Given the description of an element on the screen output the (x, y) to click on. 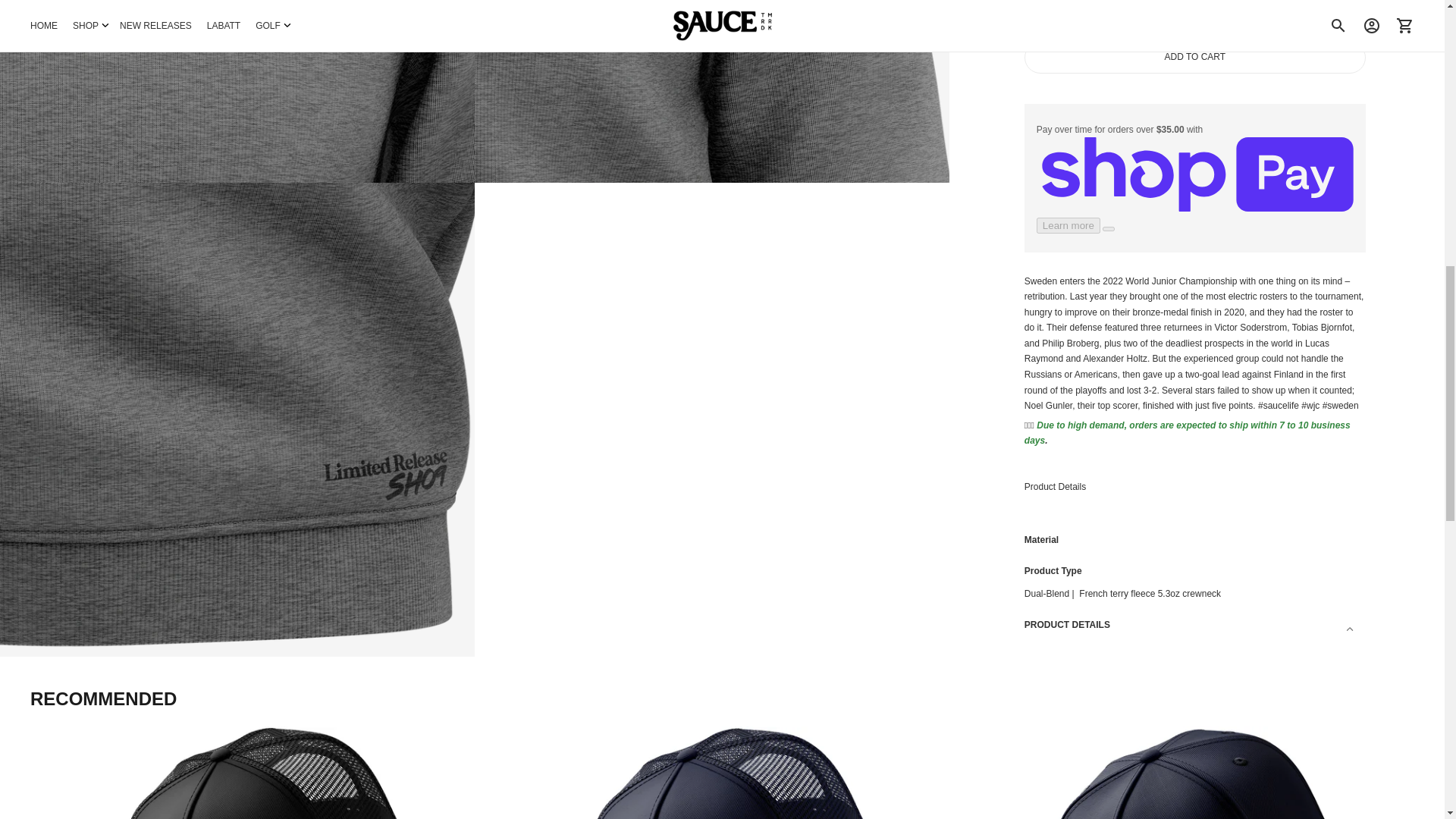
Open Image (237, 91)
HELLO DOUBLE BOGEY HAT - NAVY (721, 772)
HELLO DOUBLE BOGEY HAT - BLACK (255, 772)
SGC Stay Classy Snapback (1187, 772)
Open Image (711, 91)
